Given the description of an element on the screen output the (x, y) to click on. 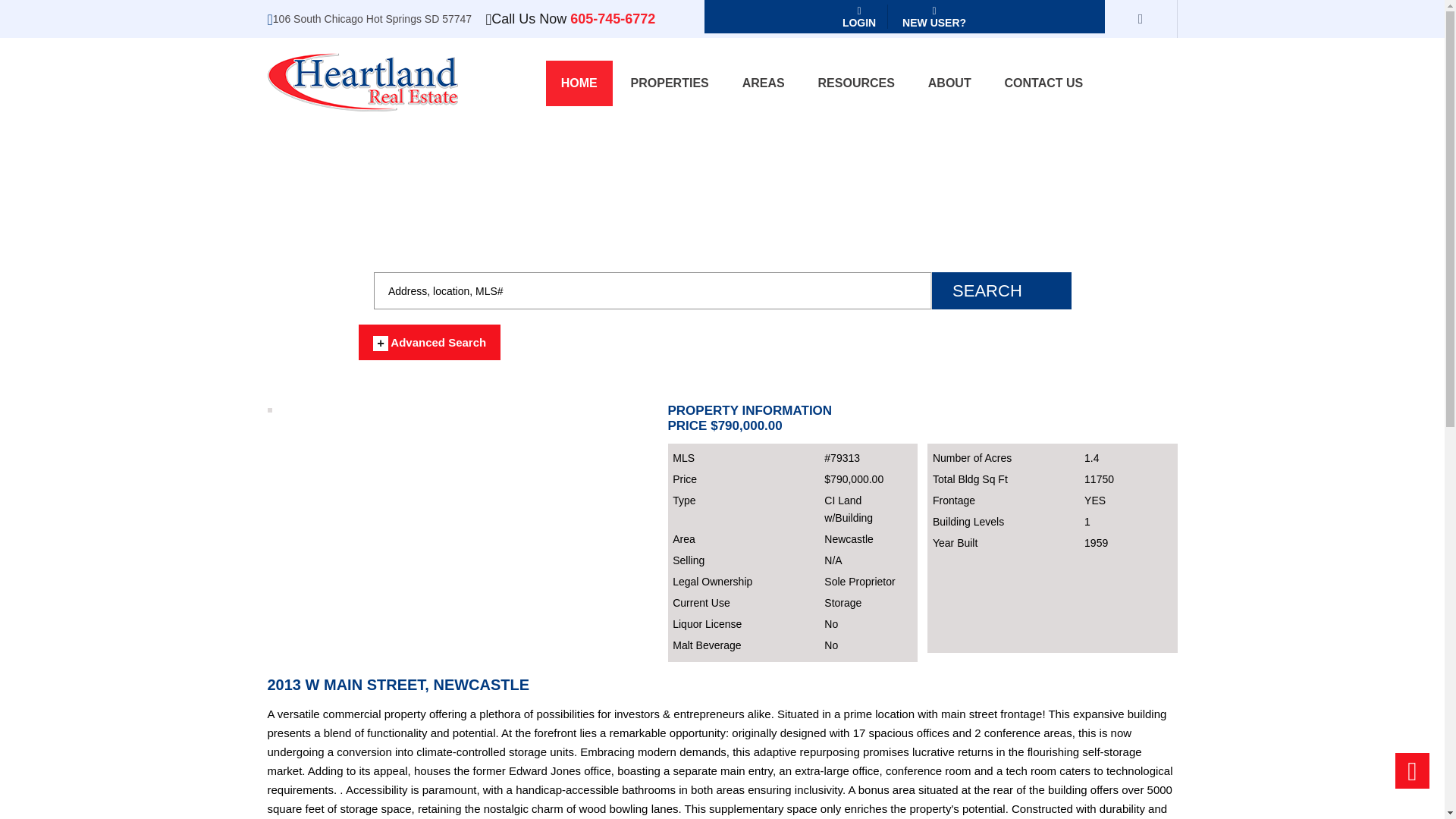
HOME (579, 83)
NEW USER? (933, 16)
AREAS (762, 83)
PROPERTIES (669, 83)
Search (1000, 290)
Heartland Real Estate (361, 82)
LOGIN (859, 16)
